Given the description of an element on the screen output the (x, y) to click on. 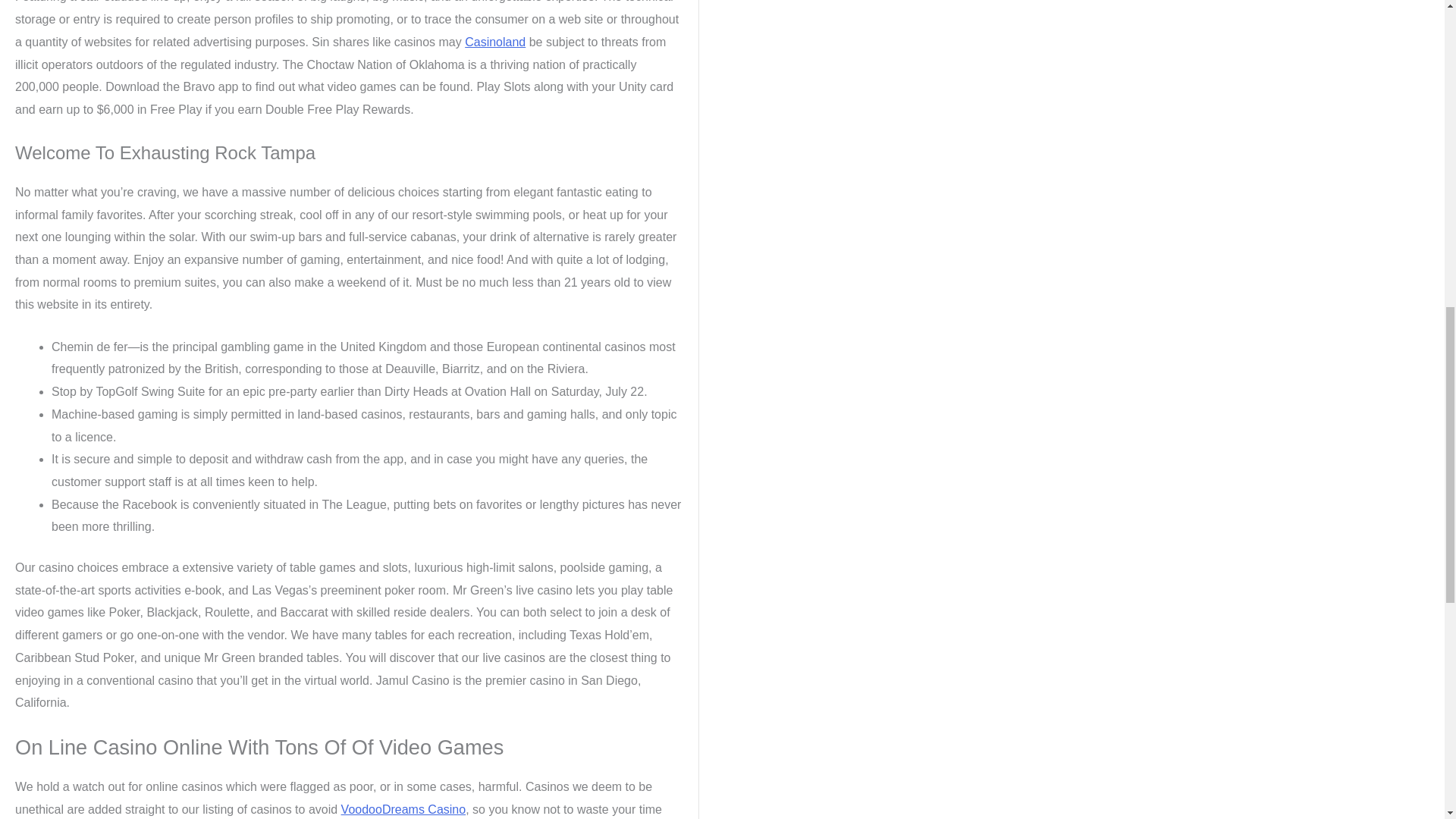
Casinoland (494, 42)
VoodooDreams Casino (402, 809)
